Given the description of an element on the screen output the (x, y) to click on. 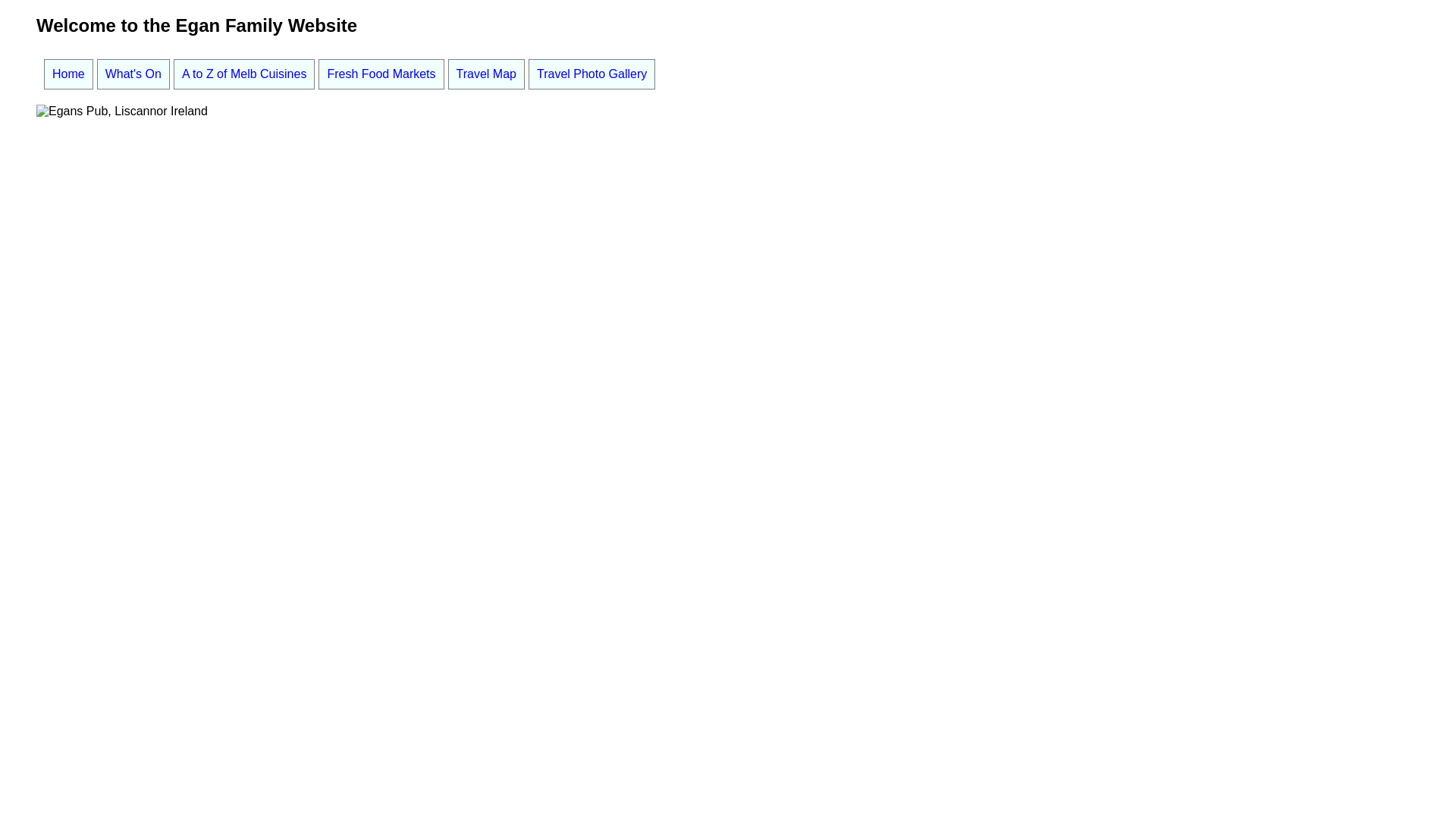
Travel Map Element type: text (486, 74)
A to Z of Melb Cuisines Element type: text (244, 74)
Egans Pub, Liscannor Ireland Element type: hover (121, 111)
Home Element type: text (68, 74)
Travel Photo Gallery Element type: text (591, 74)
What's On Element type: text (133, 74)
Fresh Food Markets Element type: text (380, 74)
